Given the description of an element on the screen output the (x, y) to click on. 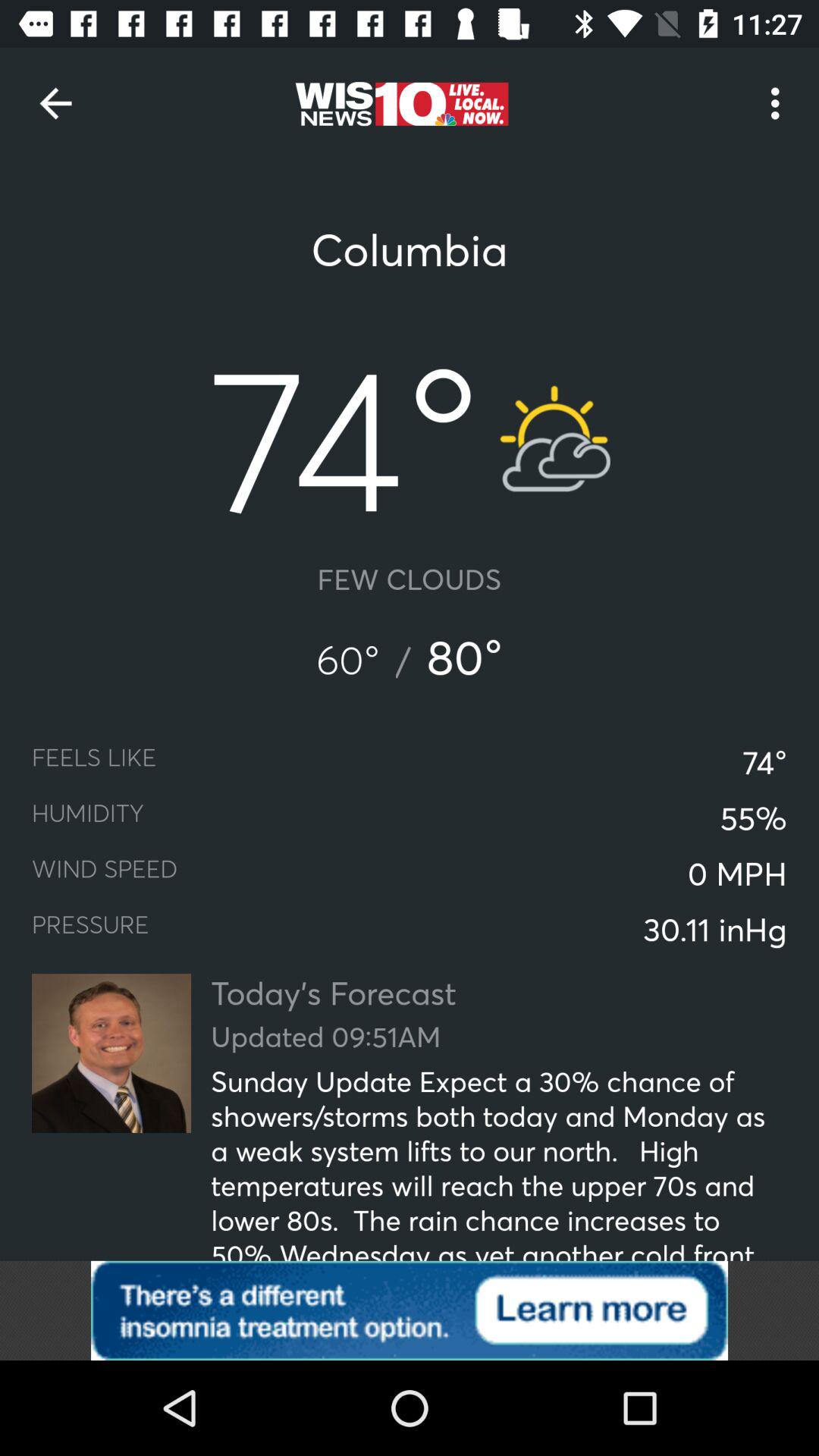
go to website logo right side to back arrow on top of page (400, 103)
